Given the description of an element on the screen output the (x, y) to click on. 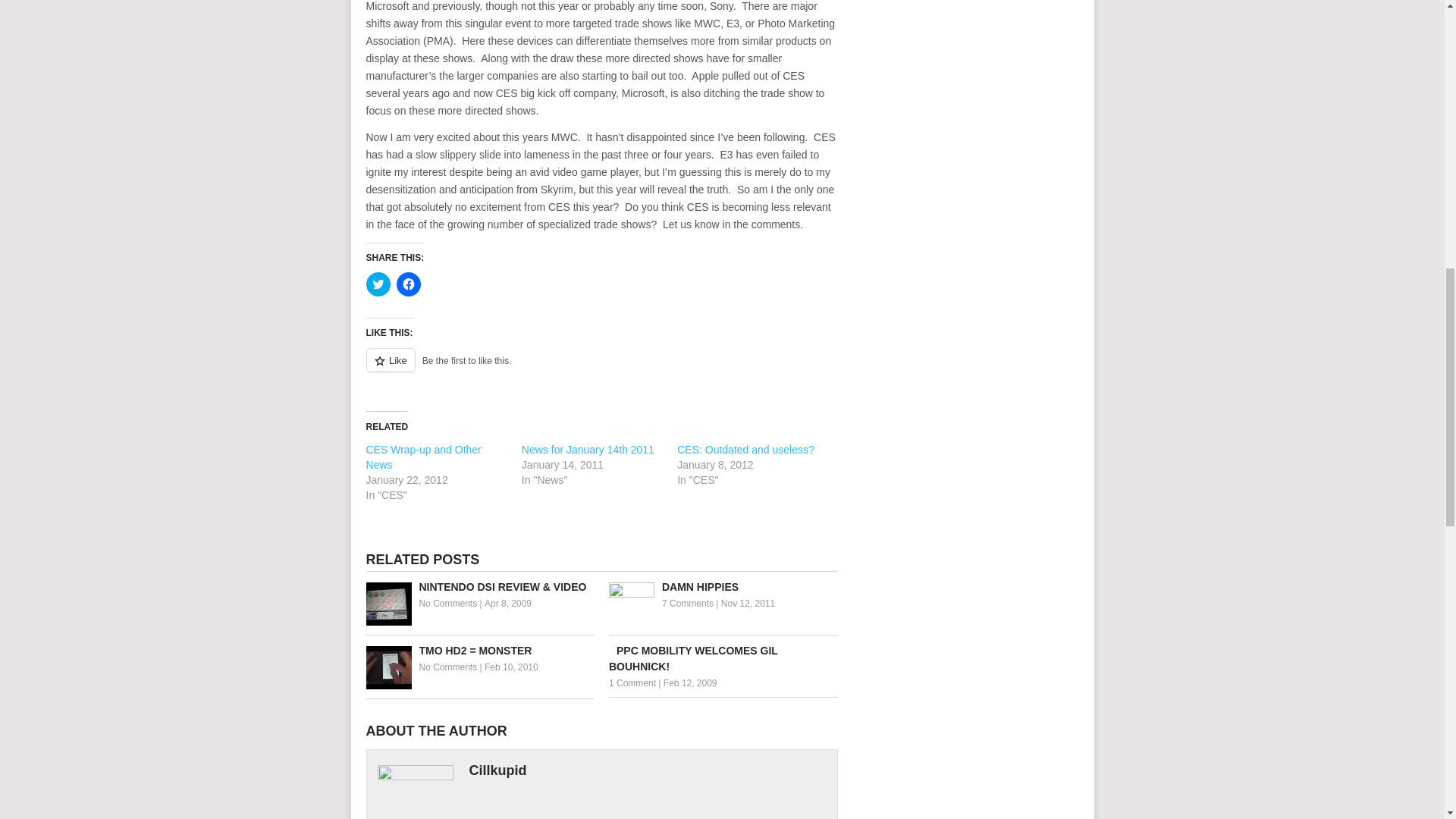
No Comments (448, 666)
Click to share on Facebook (408, 283)
1 Comment (632, 683)
CES Wrap-up and Other News (422, 456)
Like or Reblog (601, 368)
CES: Outdated and useless? (745, 449)
PPC MOBILITY WELCOMES GIL BOUHNICK! (723, 658)
Click to share on Twitter (377, 283)
CES Wrap-up and Other News (422, 456)
News for January 14th 2011 (587, 449)
No Comments (448, 603)
7 Comments (687, 603)
DAMN HIPPIES (723, 587)
